Given the description of an element on the screen output the (x, y) to click on. 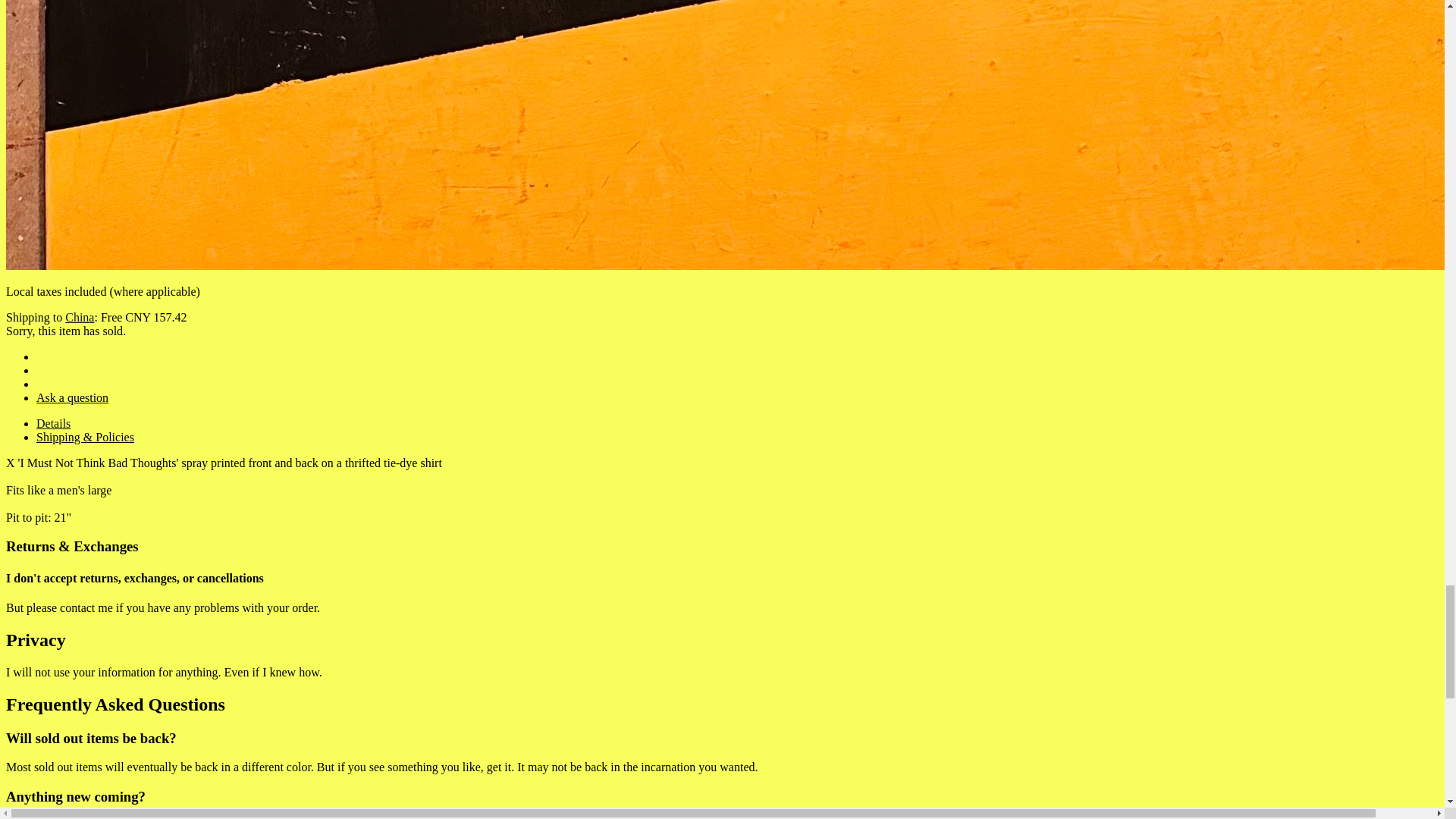
Ask a question (71, 397)
China (79, 317)
Details (52, 422)
